Given the description of an element on the screen output the (x, y) to click on. 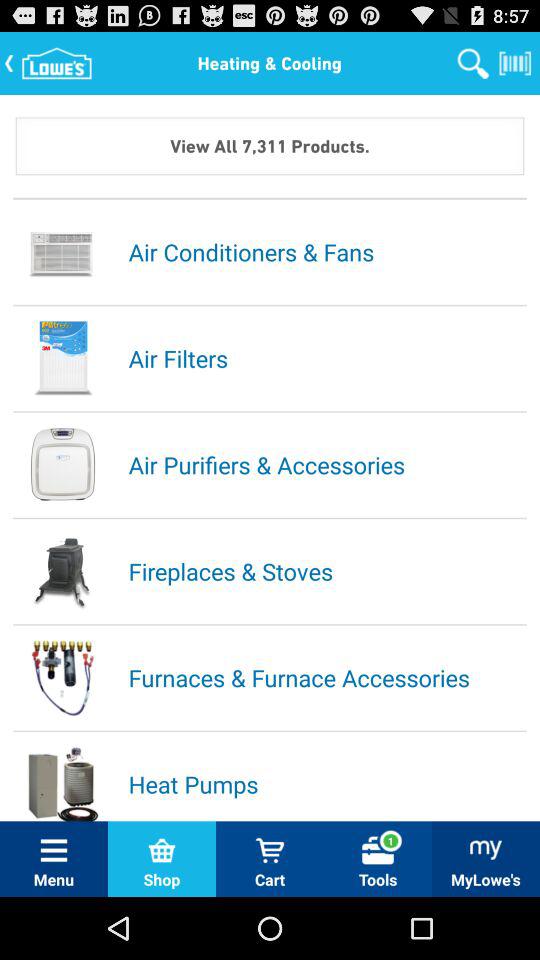
select item above the fireplaces & stoves app (326, 464)
